Given the description of an element on the screen output the (x, y) to click on. 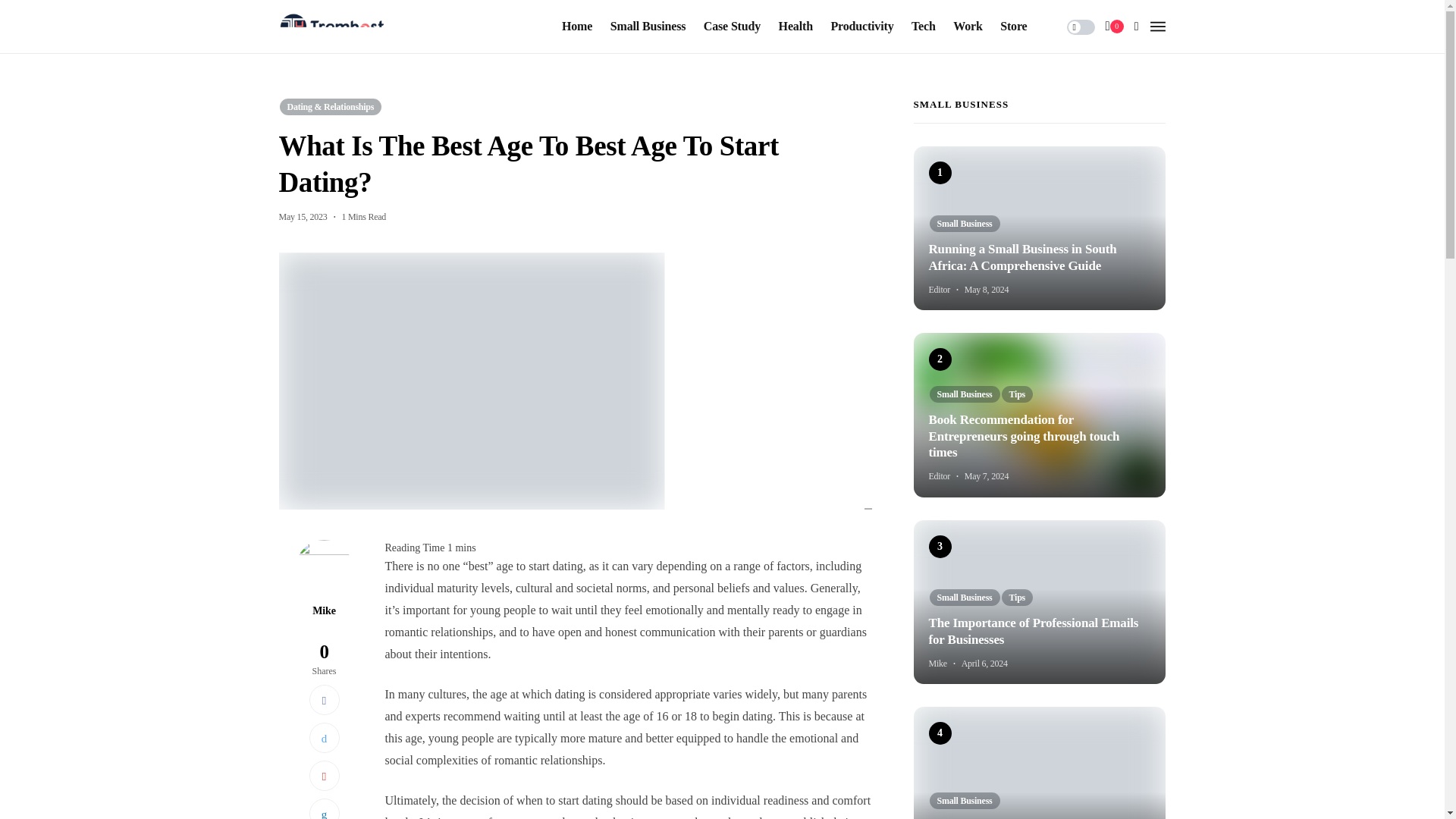
Small Business (647, 26)
Posts by Editor (939, 289)
Case Study (731, 26)
Productivity (861, 26)
Mike (324, 610)
Posts by Editor (939, 475)
